Given the description of an element on the screen output the (x, y) to click on. 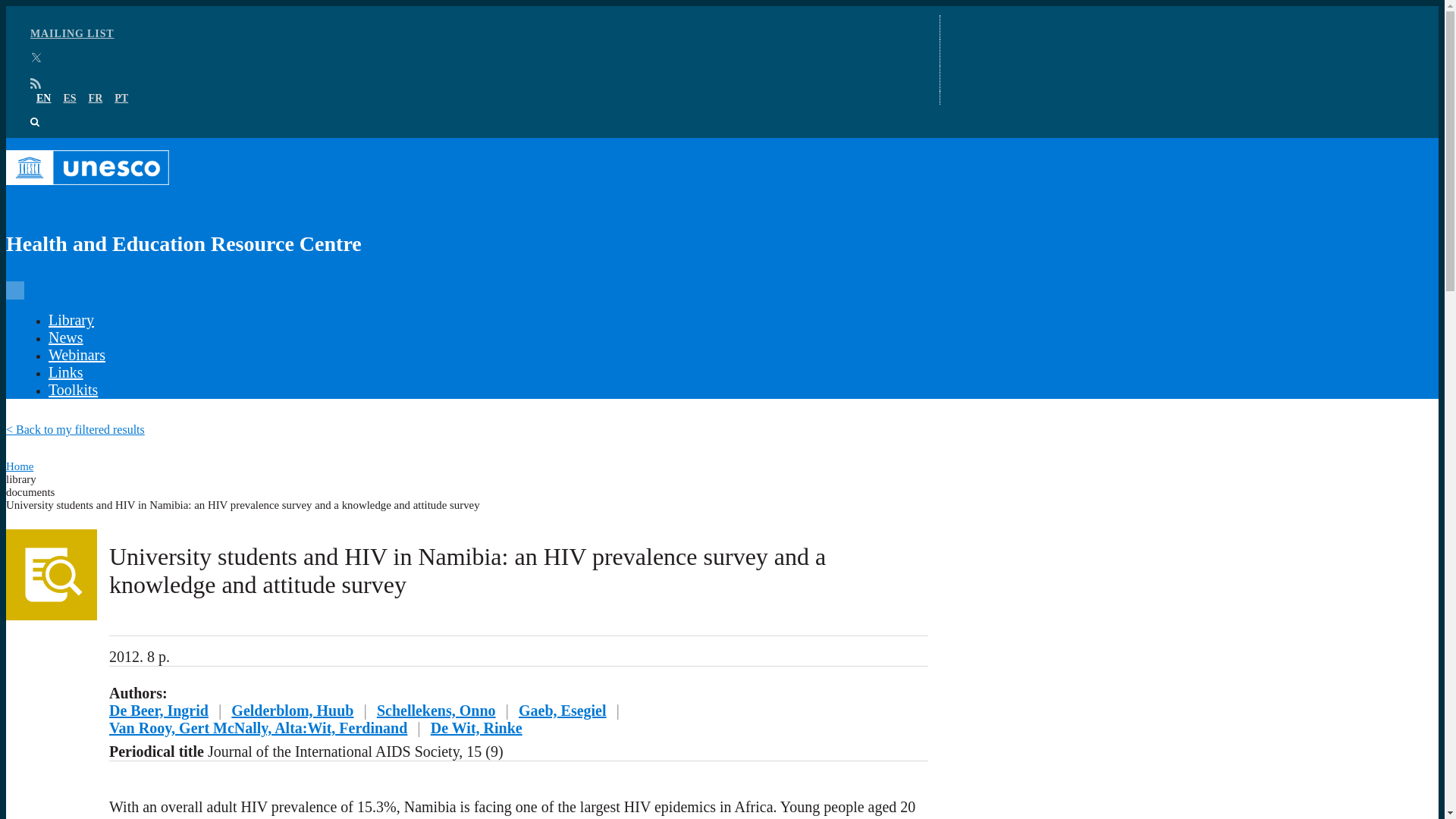
Skip to main content (722, 7)
PT (121, 98)
Health and Education Resource Centre (466, 209)
News (65, 337)
Links (65, 371)
EN (43, 98)
Gelderblom, Huub (292, 710)
ES (68, 98)
De Beer, Ingrid (158, 710)
Webinars (76, 354)
